Given the description of an element on the screen output the (x, y) to click on. 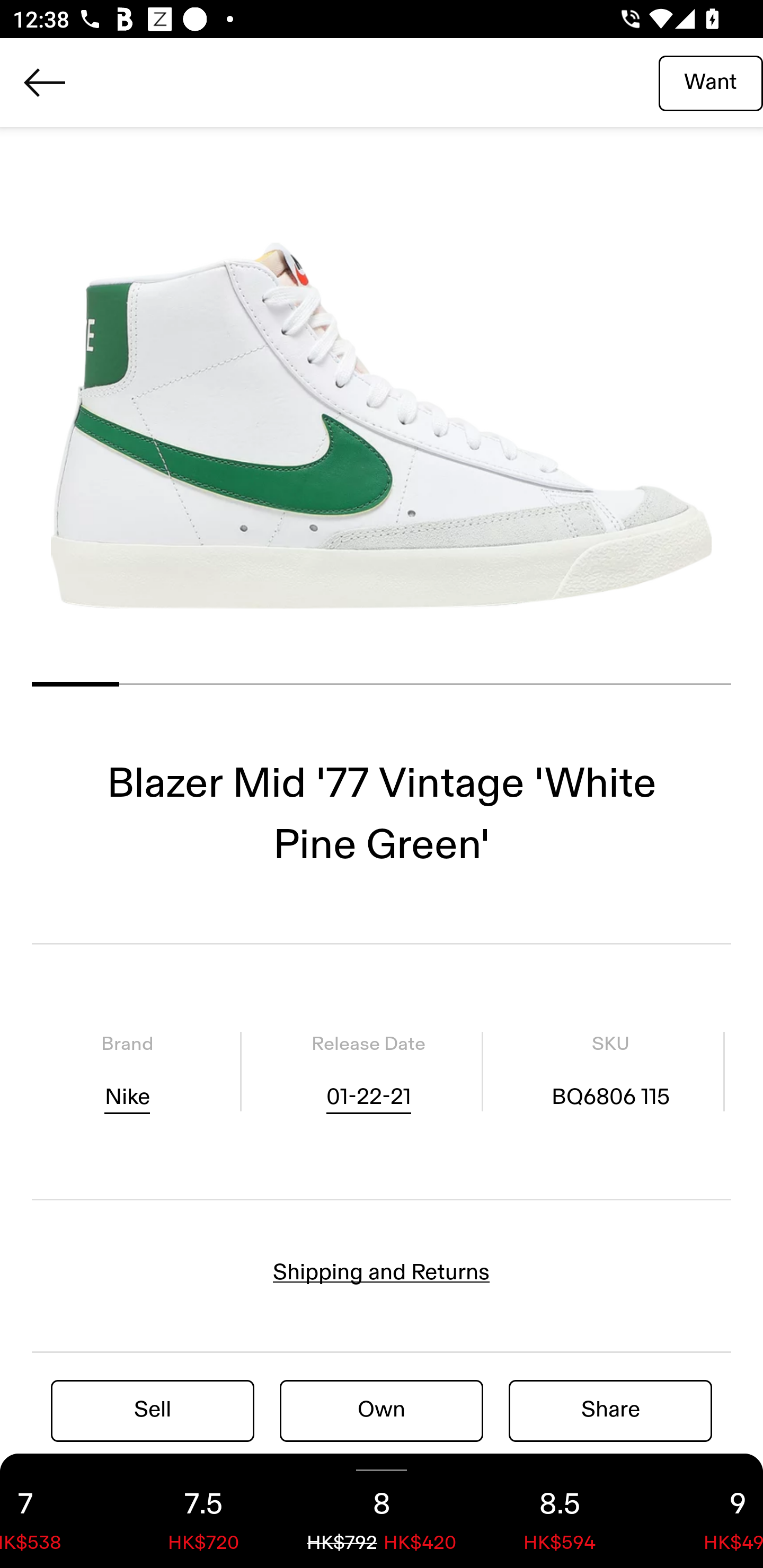
Want (710, 82)
Brand Nike (126, 1070)
Release Date 01-22-21 (368, 1070)
SKU BQ6806 115 (609, 1070)
Shipping and Returns (381, 1272)
Sell (152, 1410)
Own (381, 1410)
Share (609, 1410)
7 HK$538 (57, 1510)
7.5 HK$720 (203, 1510)
8 HK$792 HK$420 (381, 1510)
8.5 HK$594 (559, 1510)
9 HK$491 (705, 1510)
